Given the description of an element on the screen output the (x, y) to click on. 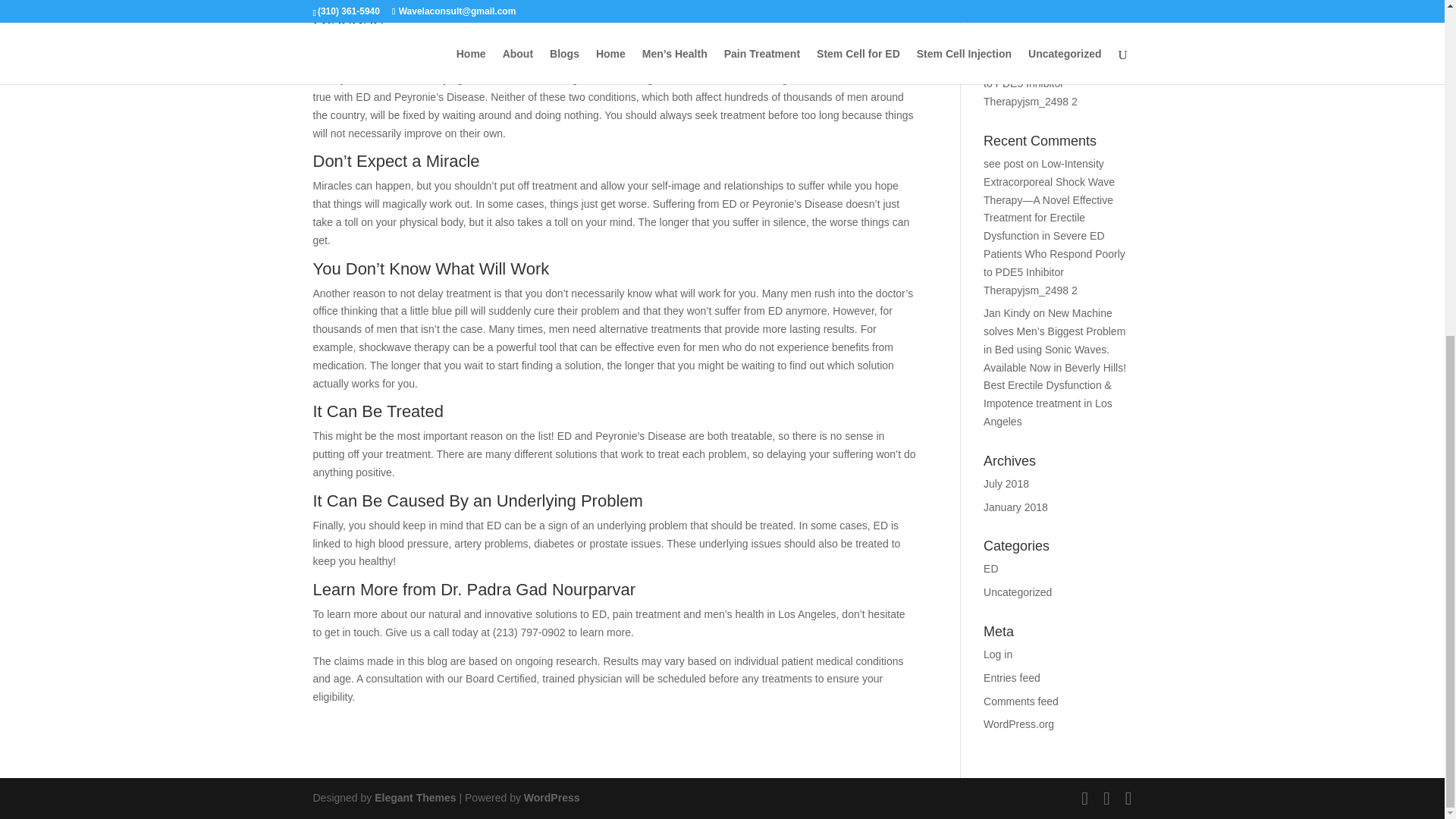
Posts by Hailey Ploski-Sarno (372, 44)
ED (501, 44)
Hailey Ploski-Sarno (372, 44)
Premium WordPress Themes (414, 797)
